Given the description of an element on the screen output the (x, y) to click on. 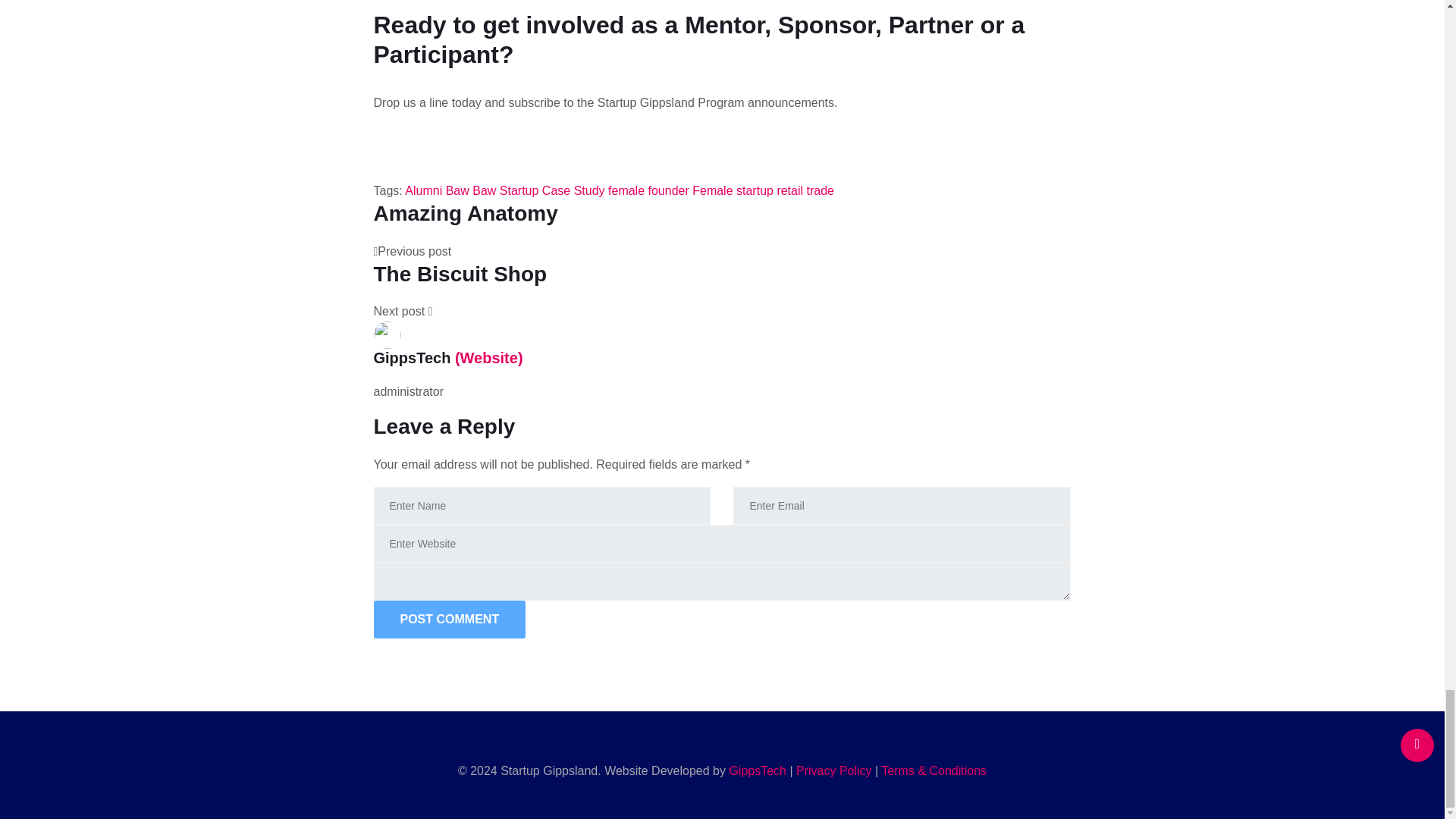
Baw Baw Startup (491, 190)
Case Study (573, 190)
Privacy Policy (834, 770)
Post Comment (721, 228)
GippsTech (448, 619)
Post Comment (757, 770)
Alumni (448, 619)
female founder (423, 190)
